Given the description of an element on the screen output the (x, y) to click on. 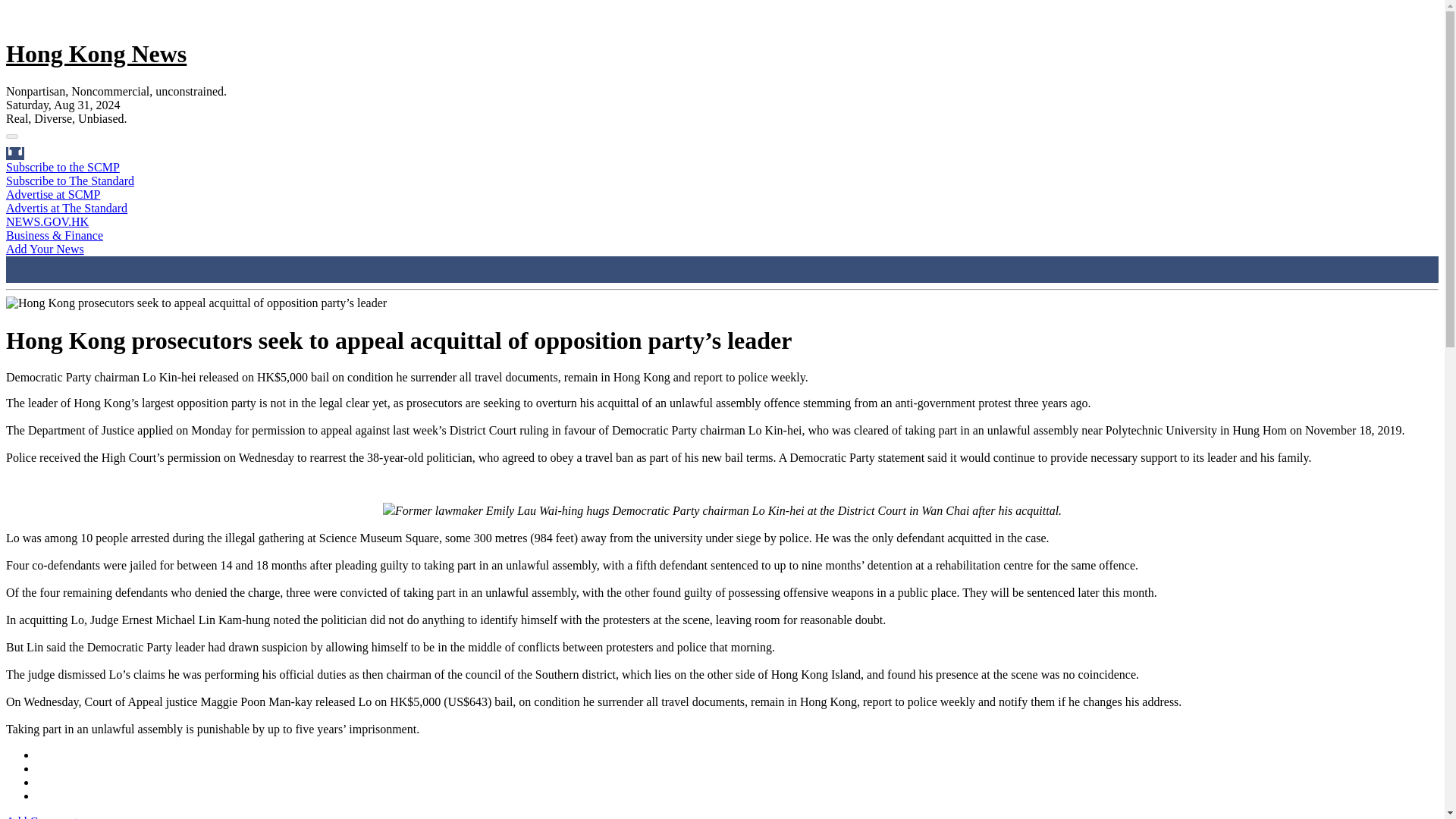
Add Your News (44, 248)
Advertise at SCMP (52, 194)
Subscribe to The Standard (69, 180)
Subscribe to the SCMP (62, 166)
Advertis at The Standard (66, 207)
Hong Kong News (95, 53)
NEWS.GOV.HK (46, 221)
Add Comment (41, 816)
